Given the description of an element on the screen output the (x, y) to click on. 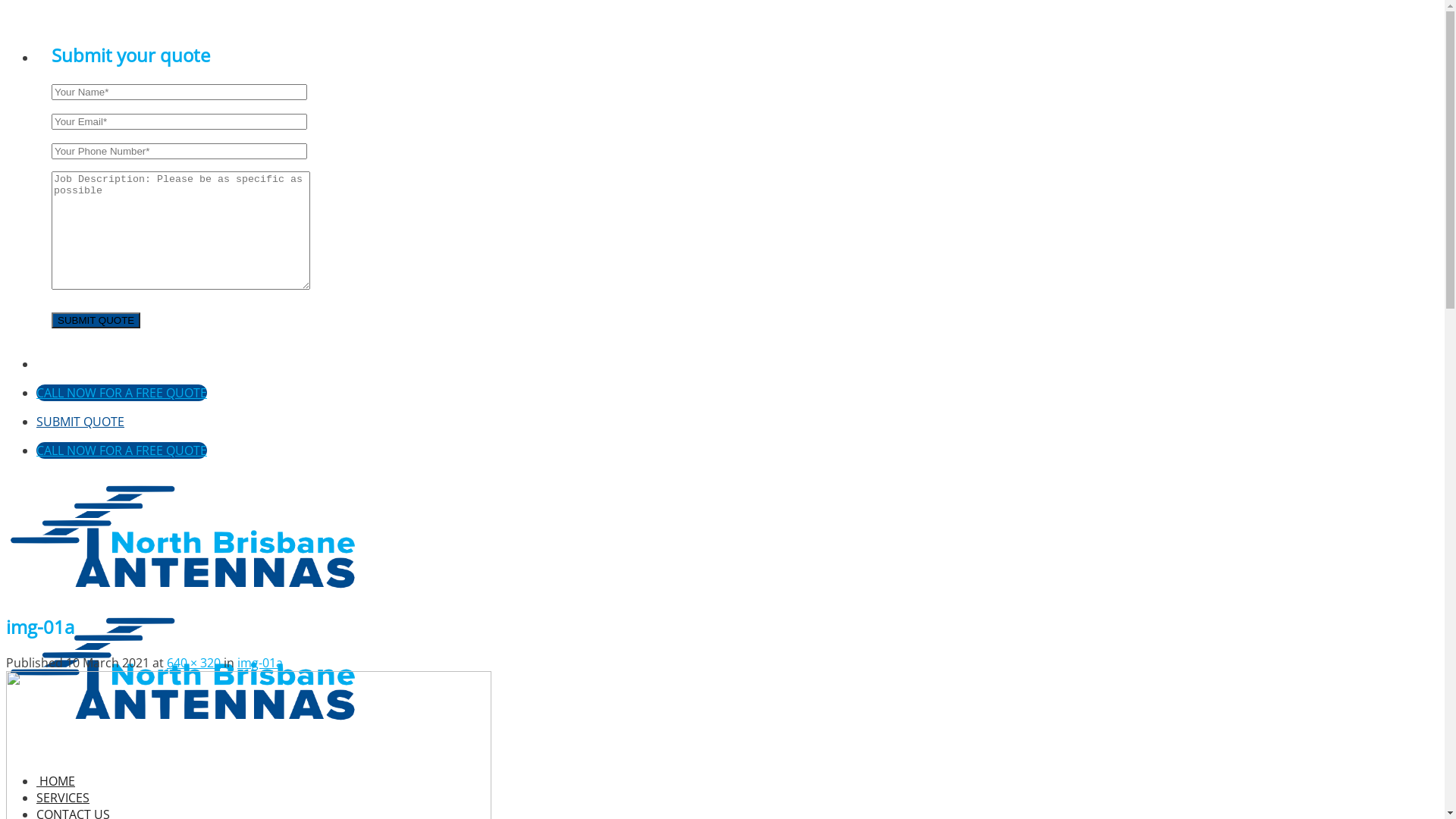
CALL NOW FOR A FREE QUOTE Element type: text (121, 392)
SUBMIT QUOTE Element type: text (95, 320)
 HOME Element type: text (55, 780)
CALL NOW FOR A FREE QUOTE Element type: text (121, 450)
SERVICES Element type: text (62, 797)
SUBMIT QUOTE Element type: text (80, 421)
Skip to content Element type: text (5, 11)
img-01a Element type: text (259, 662)
